Given the description of an element on the screen output the (x, y) to click on. 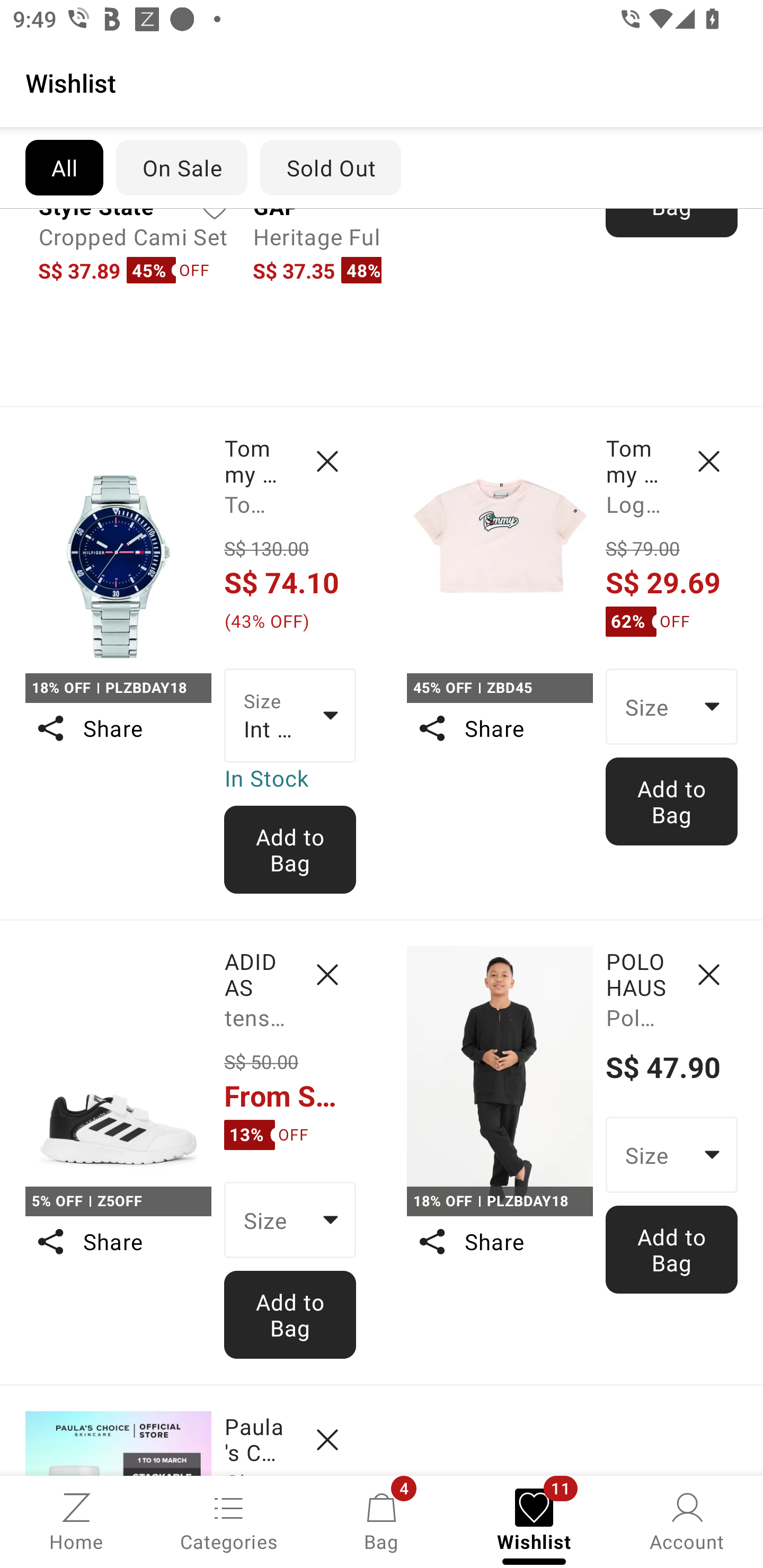
Wishlist (381, 82)
All (64, 167)
On Sale (181, 167)
Sold Out (330, 167)
Size Int One Size (290, 714)
Size (671, 705)
Share (118, 728)
Share (499, 728)
Add to Bag (671, 801)
Add to Bag (290, 849)
Size (671, 1154)
Size (290, 1219)
Add to Bag (671, 1249)
Share (118, 1241)
Share (499, 1241)
Add to Bag (290, 1314)
Home (76, 1519)
Categories (228, 1519)
Bag, 4 new notifications Bag (381, 1519)
Account (686, 1519)
